Given the description of an element on the screen output the (x, y) to click on. 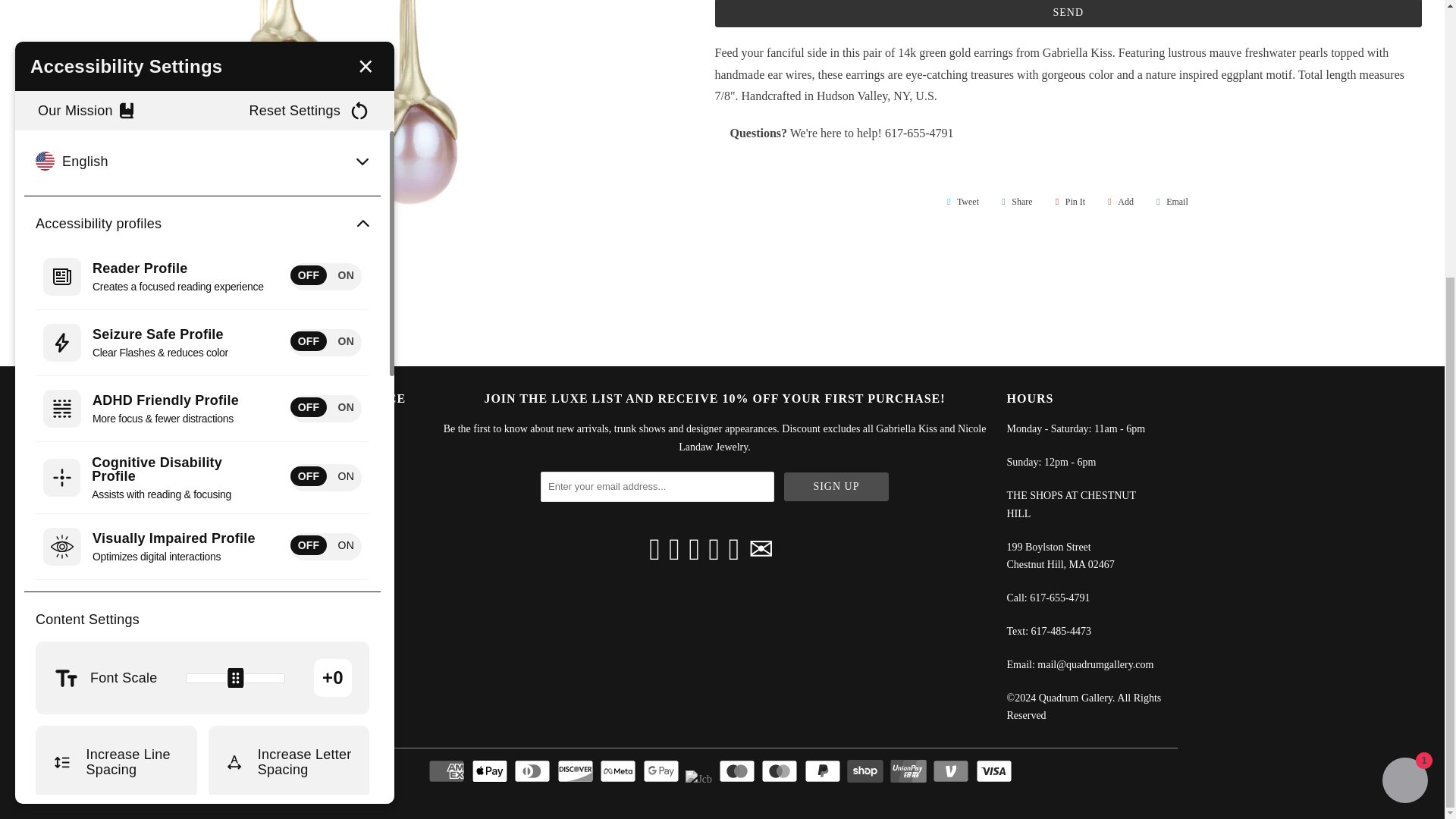
Sign Up (836, 486)
Open Accessibility Menu (31, 374)
Share this on Facebook (1014, 201)
Share this on Twitter (960, 201)
1 (235, 266)
Share this on Pinterest (1068, 201)
Send (1068, 13)
Email Quadrum Gallery (761, 549)
Email this to a friend (1169, 201)
